Given the description of an element on the screen output the (x, y) to click on. 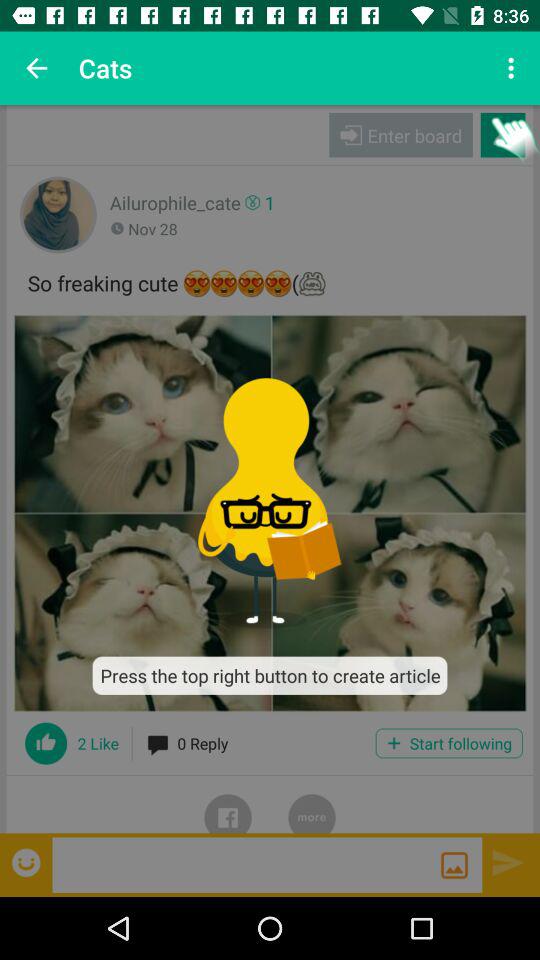
give like (46, 743)
